Given the description of an element on the screen output the (x, y) to click on. 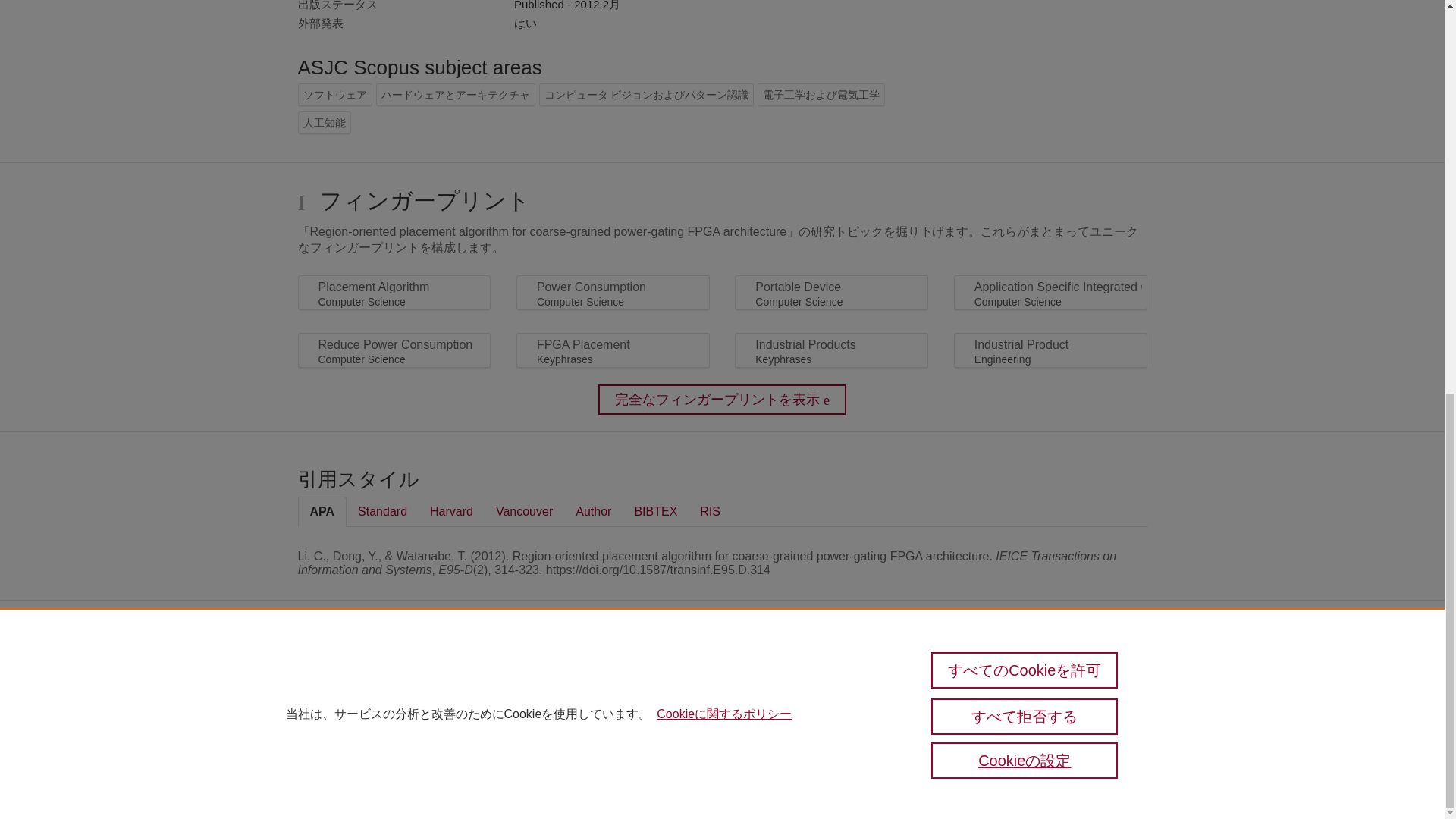
Elsevier B.V. (545, 699)
Pure (330, 676)
Scopus (362, 676)
